Given the description of an element on the screen output the (x, y) to click on. 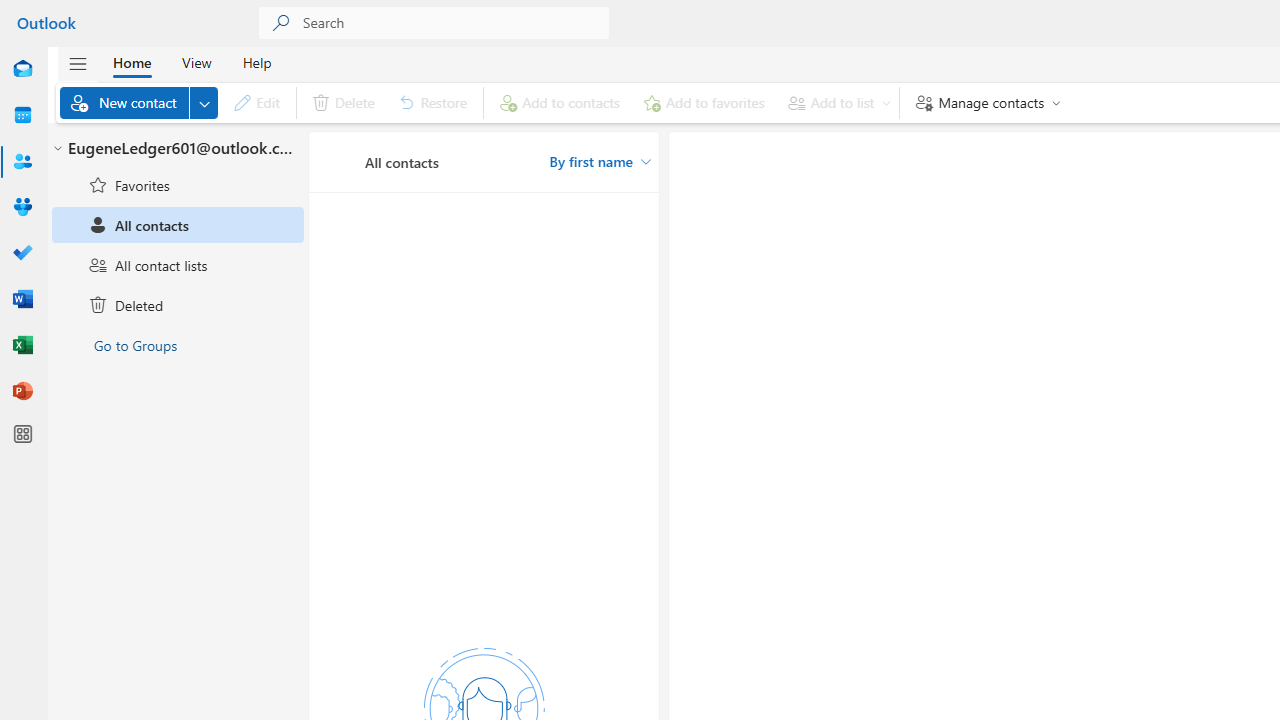
More apps (22, 434)
PowerPoint (22, 391)
